Given the description of an element on the screen output the (x, y) to click on. 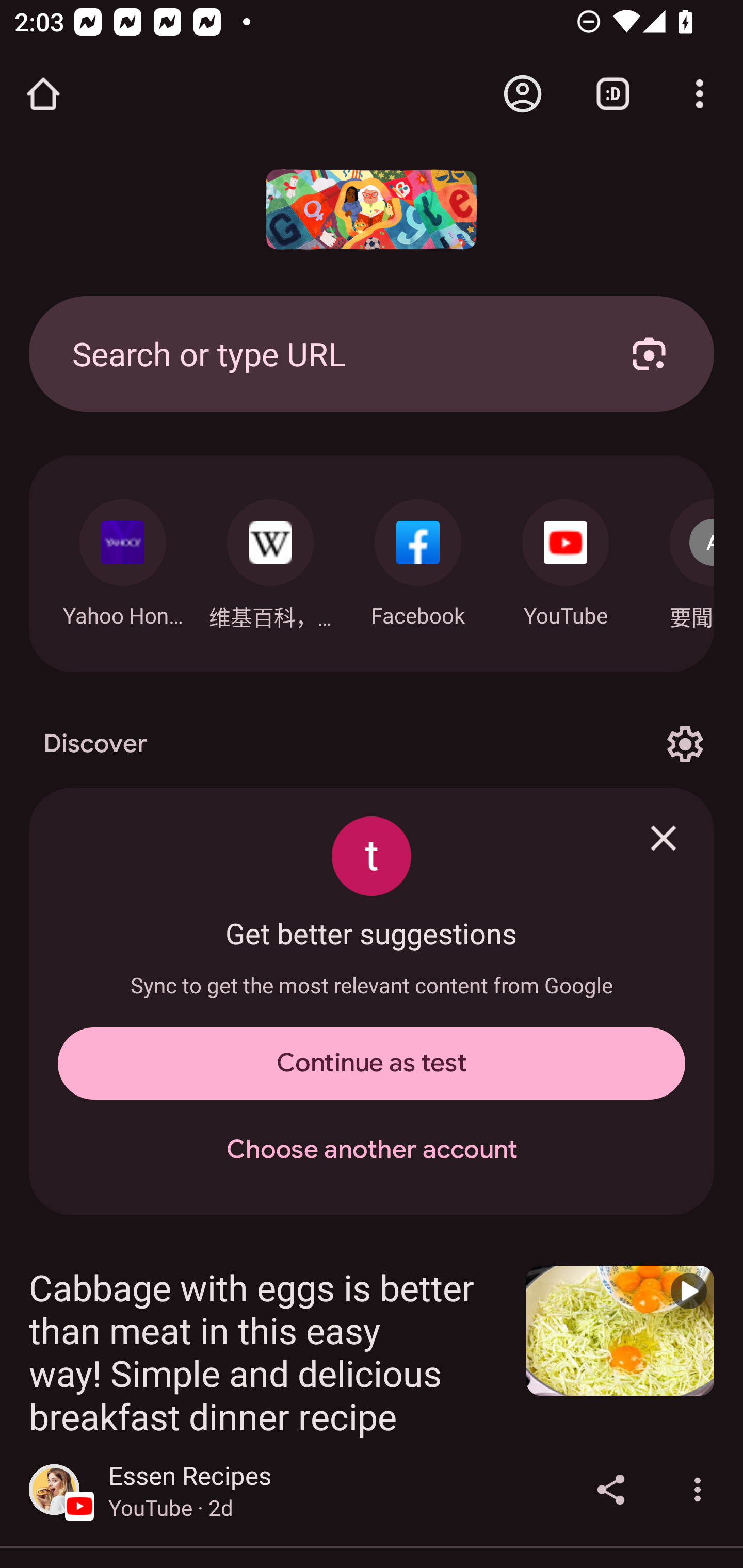
Open the home page (43, 93)
Switch or close tabs (612, 93)
Customize and control Google Chrome (699, 93)
Google doodle: 2024 年國際婦女節 (371, 209)
Search or type URL (327, 353)
Search with your camera using Google Lens (648, 353)
Navigate: Facebook: m.facebook.com Facebook (417, 558)
Navigate: YouTube: m.youtube.com YouTube (565, 558)
Navigate: 要聞港聞: hk.news.appledaily.com 要聞港聞 (677, 558)
Options for Discover (684, 743)
Close (663, 837)
Continue as test (371, 1063)
Choose another account (371, 1150)
